Given the description of an element on the screen output the (x, y) to click on. 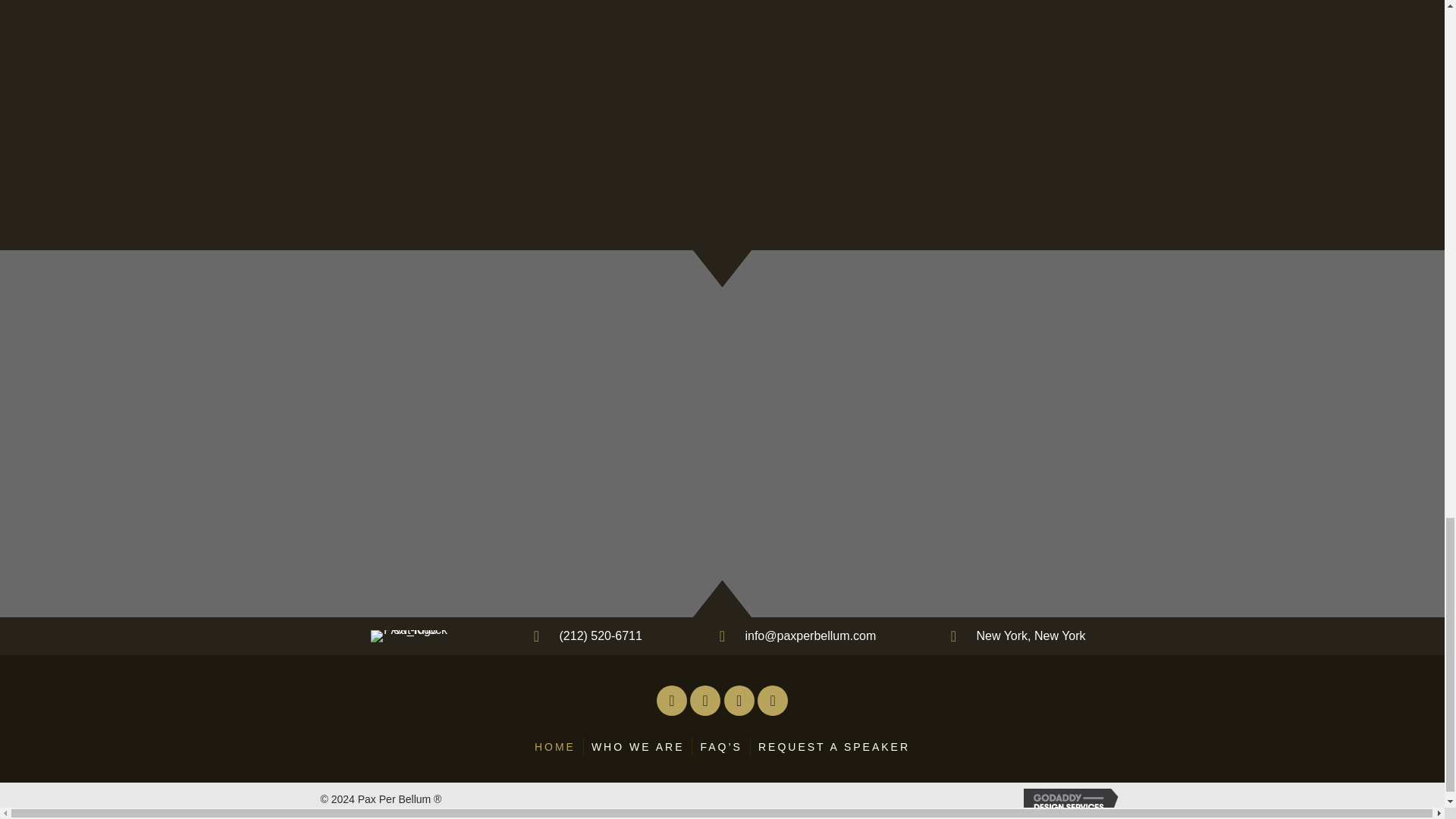
WHO WE ARE (638, 746)
Instagram (705, 699)
Twitter (738, 699)
HOME (555, 746)
REQUEST A SPEAKER (834, 746)
Facebook (671, 699)
Youtube (772, 699)
